Given the description of an element on the screen output the (x, y) to click on. 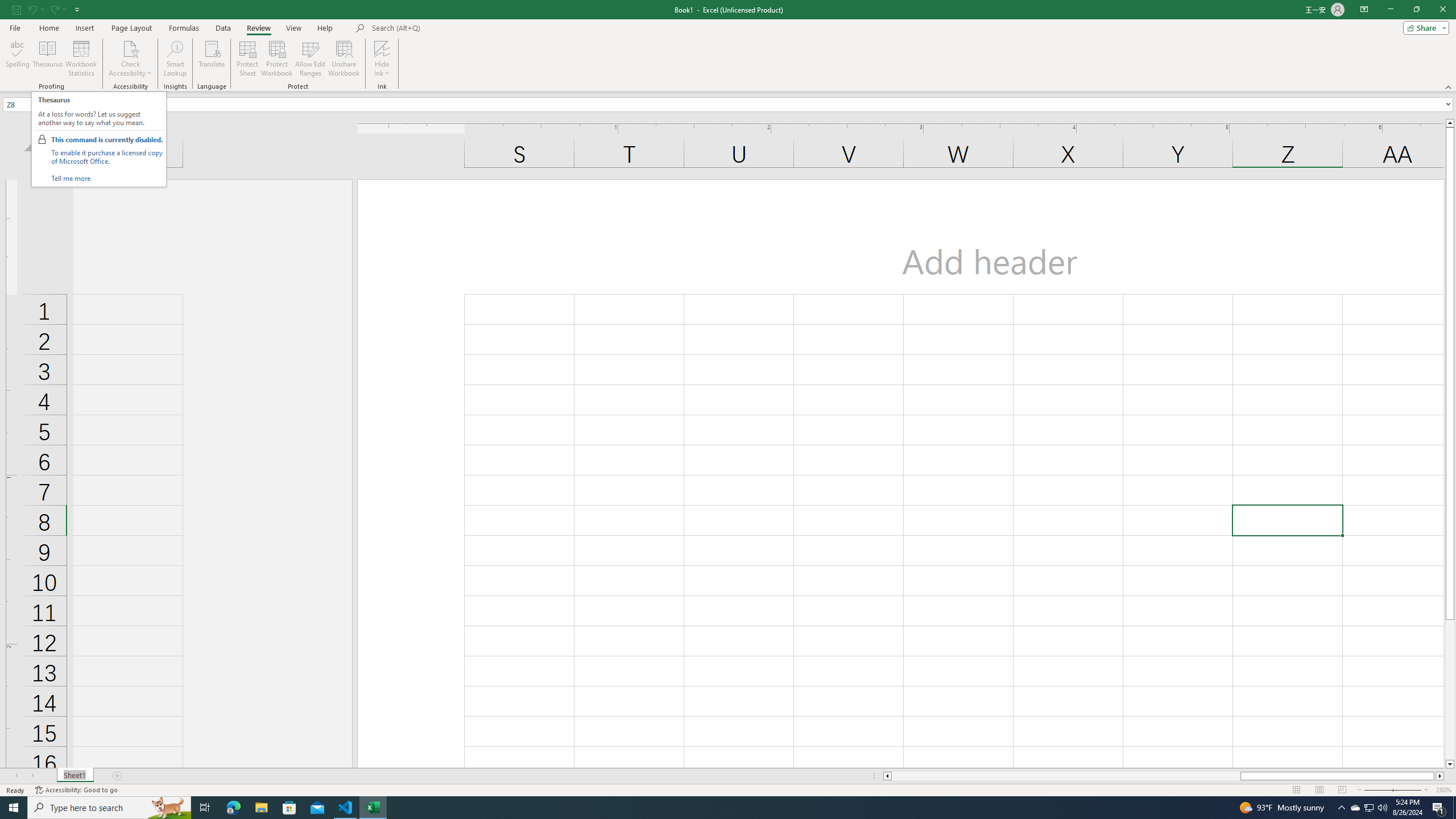
Smart Lookup (175, 58)
